Given the description of an element on the screen output the (x, y) to click on. 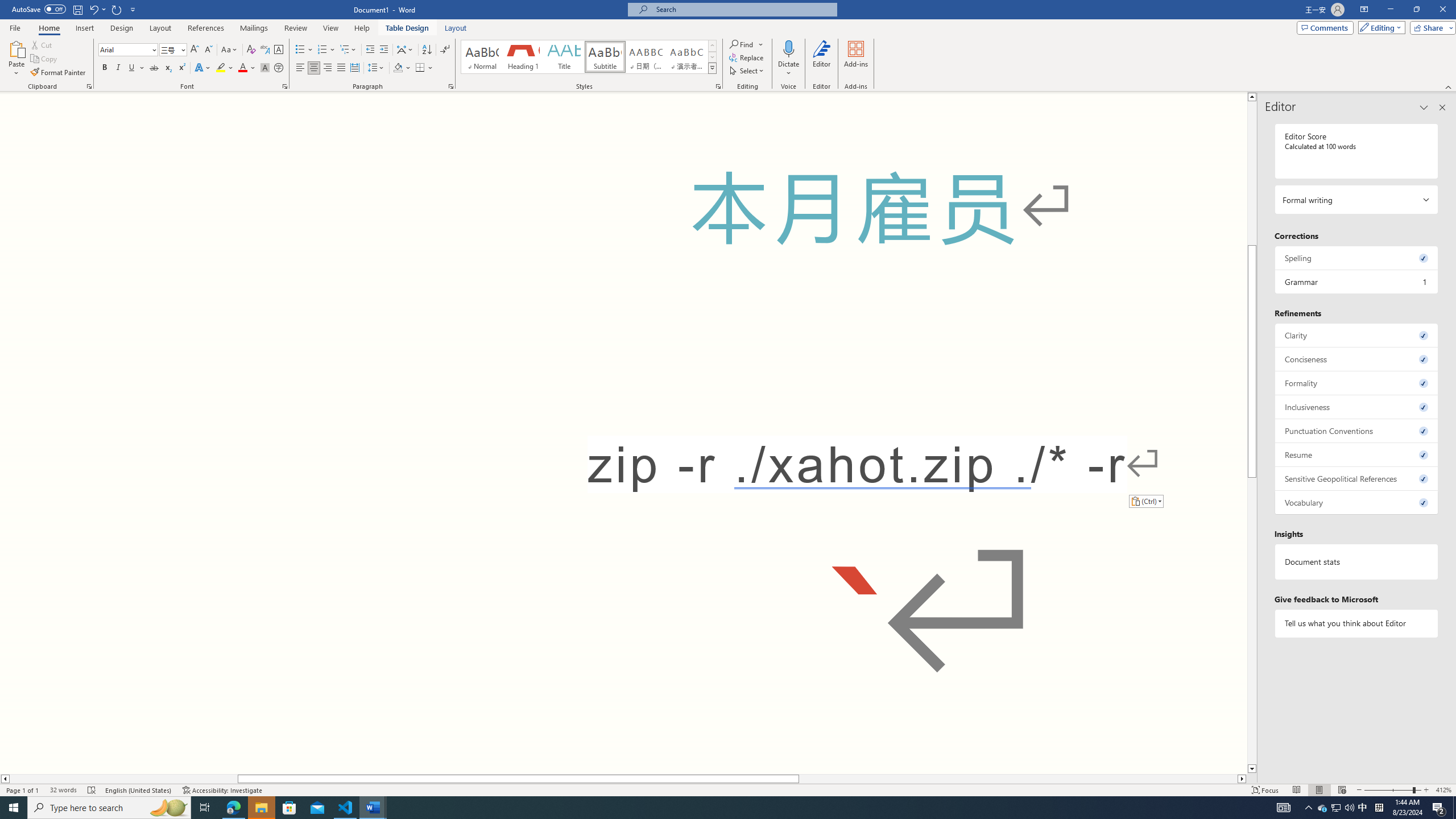
Line down (1251, 768)
Shrink Font (208, 49)
Show/Hide Editing Marks (444, 49)
Styles... (717, 85)
Enclose Characters... (278, 67)
Clear Formatting (250, 49)
Phonetic Guide... (264, 49)
